Given the description of an element on the screen output the (x, y) to click on. 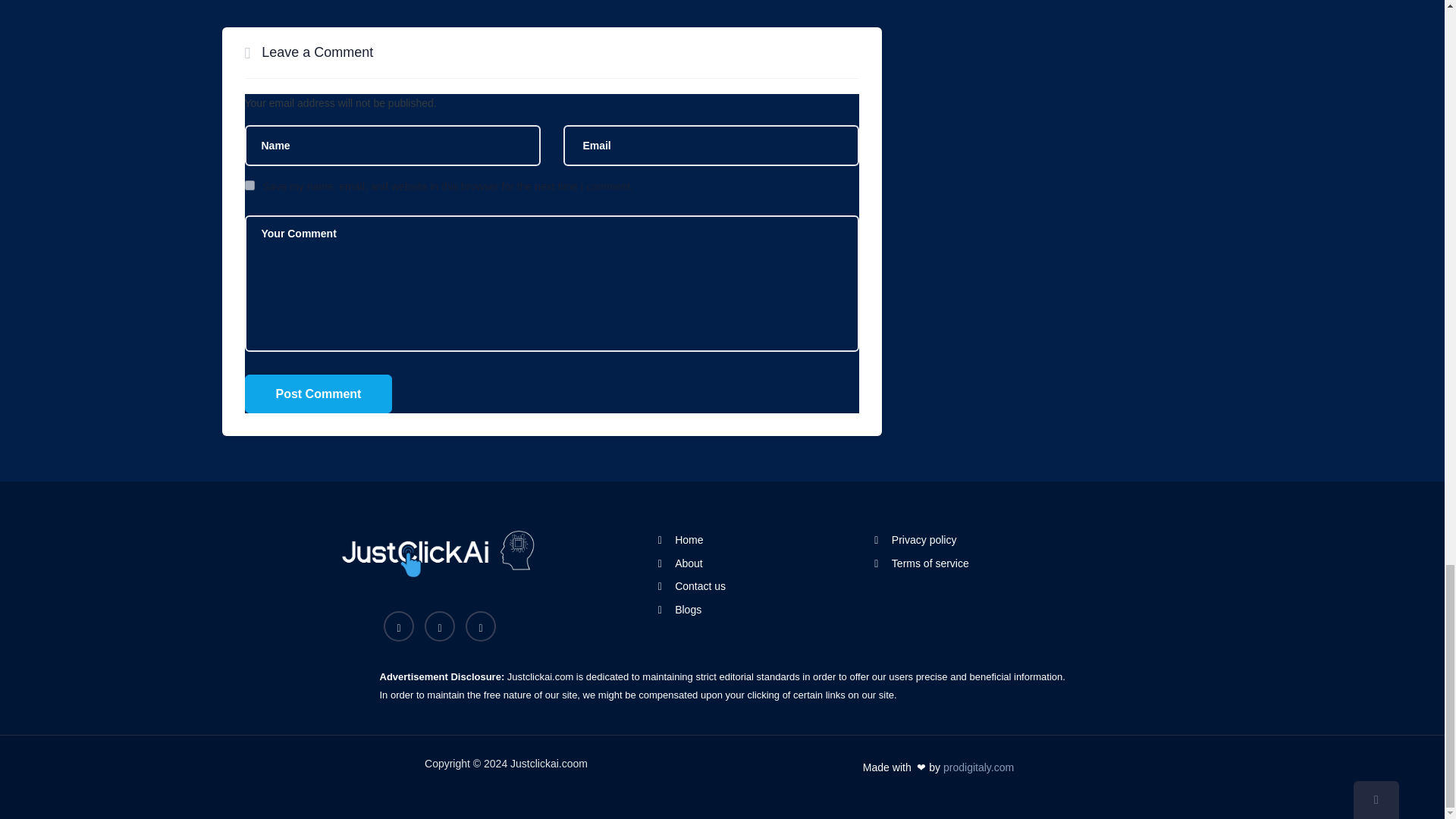
Post Comment (317, 393)
yes (248, 185)
